Given the description of an element on the screen output the (x, y) to click on. 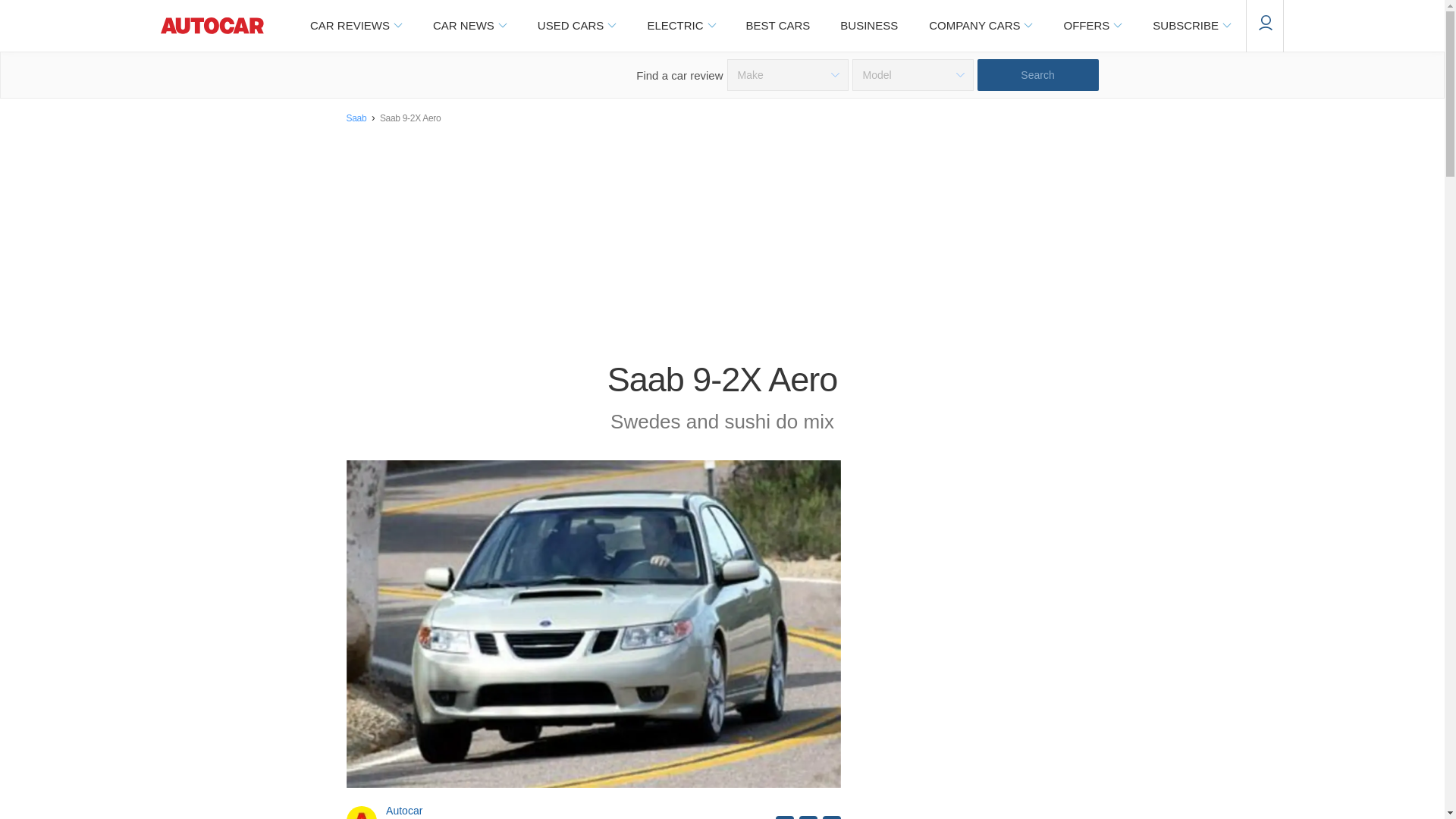
BUSINESS (868, 26)
USED CARS (576, 26)
Top 10 cars by segment (777, 26)
CAR NEWS (468, 26)
Autocar Electric (680, 26)
OFFERS (1091, 26)
COMPANY CARS (979, 26)
Home (211, 25)
Autocar Business news, insight and opinion (868, 26)
SUBSCRIBE (1191, 26)
